Given the description of an element on the screen output the (x, y) to click on. 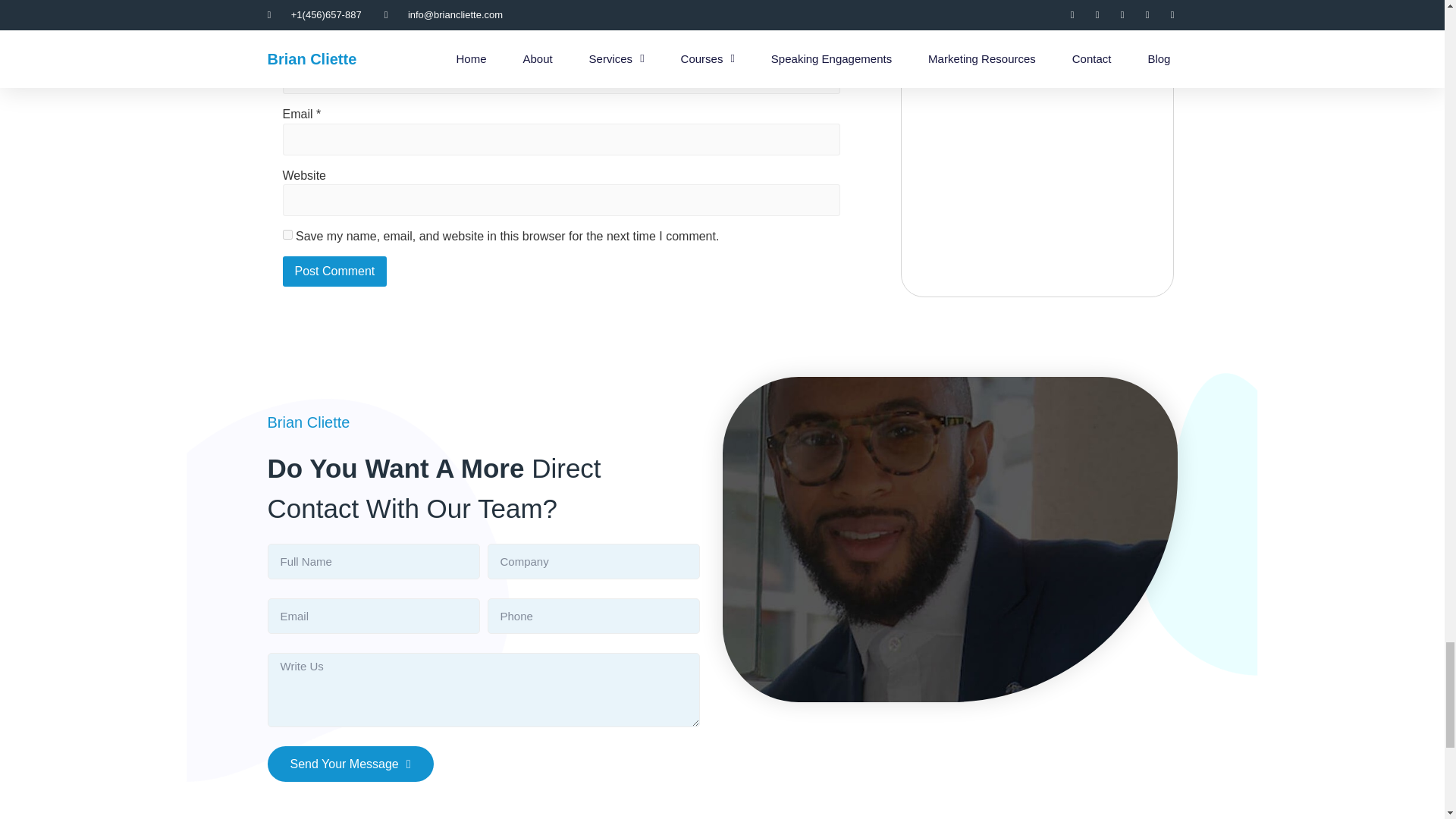
yes (287, 234)
Post Comment (334, 271)
